Given the description of an element on the screen output the (x, y) to click on. 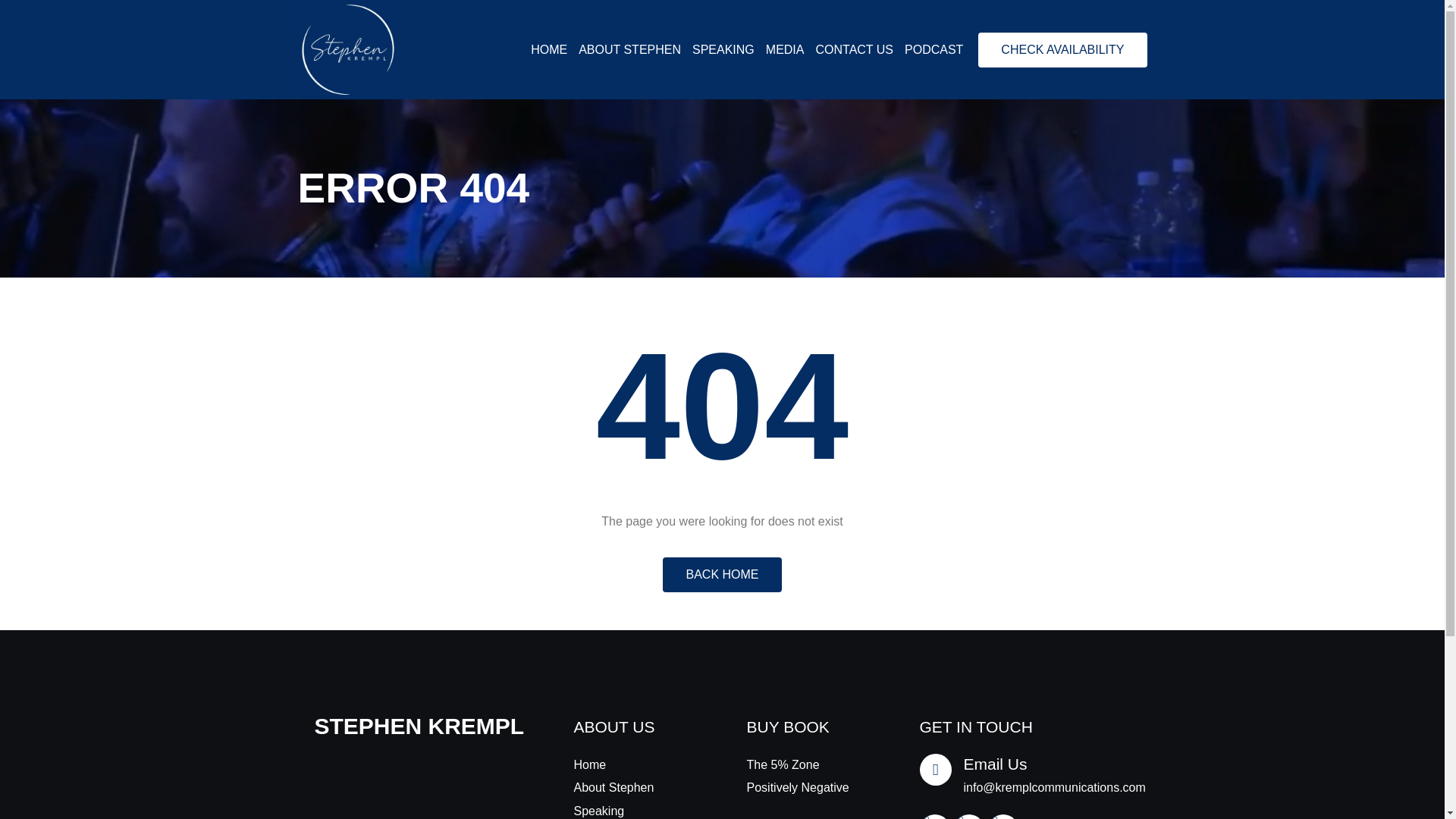
Positively Negative (807, 787)
Speaking (635, 809)
CONTACT US (854, 49)
CHECK AVAILABILITY (1062, 49)
MEDIA (785, 49)
About Stephen (635, 787)
ABOUT STEPHEN (629, 49)
PODCAST (933, 49)
BACK HOME (721, 574)
SPEAKING (723, 49)
